Given the description of an element on the screen output the (x, y) to click on. 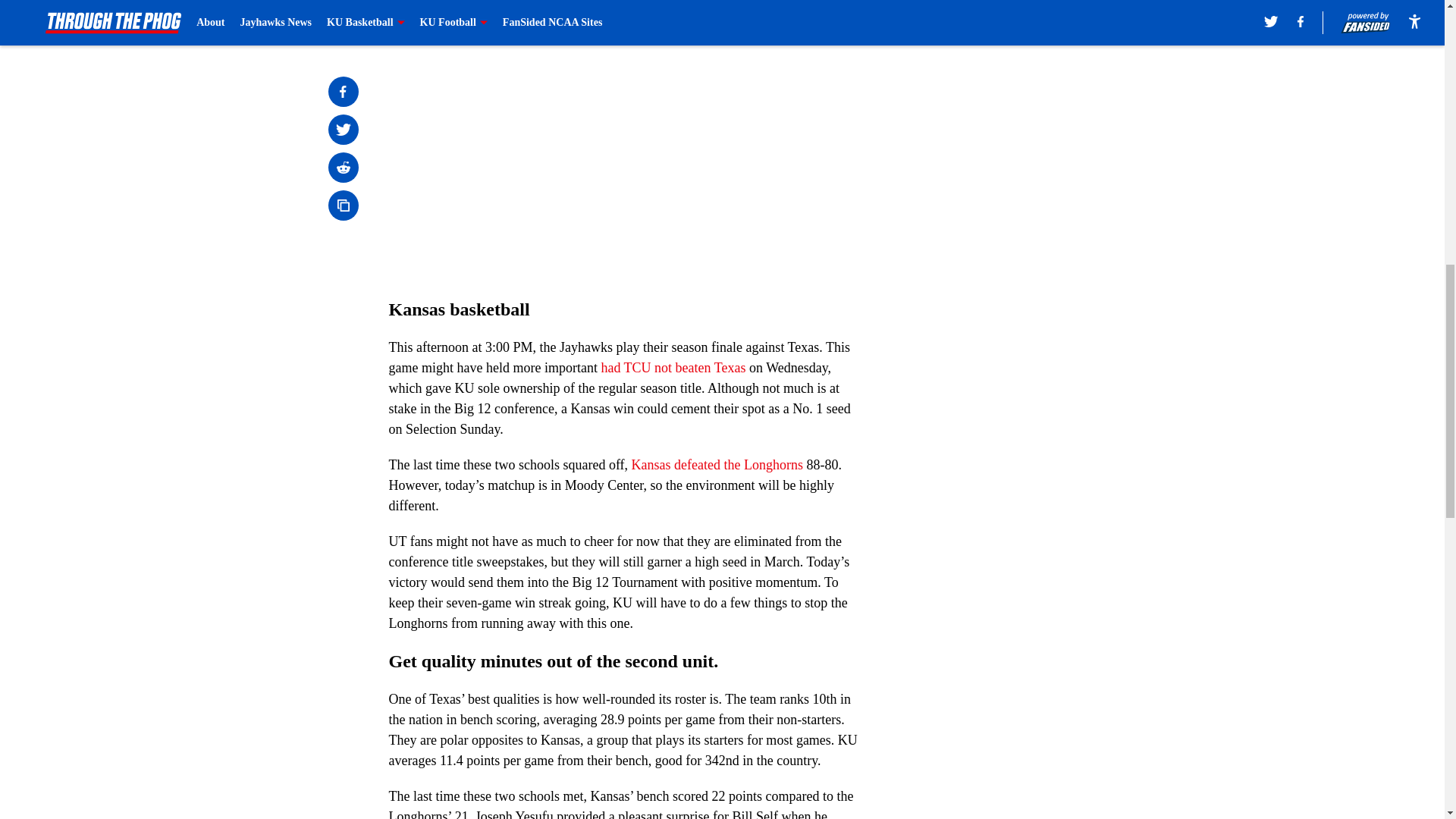
had TCU not beaten Texas (672, 367)
Kansas defeated the Longhorns (717, 464)
